Given the description of an element on the screen output the (x, y) to click on. 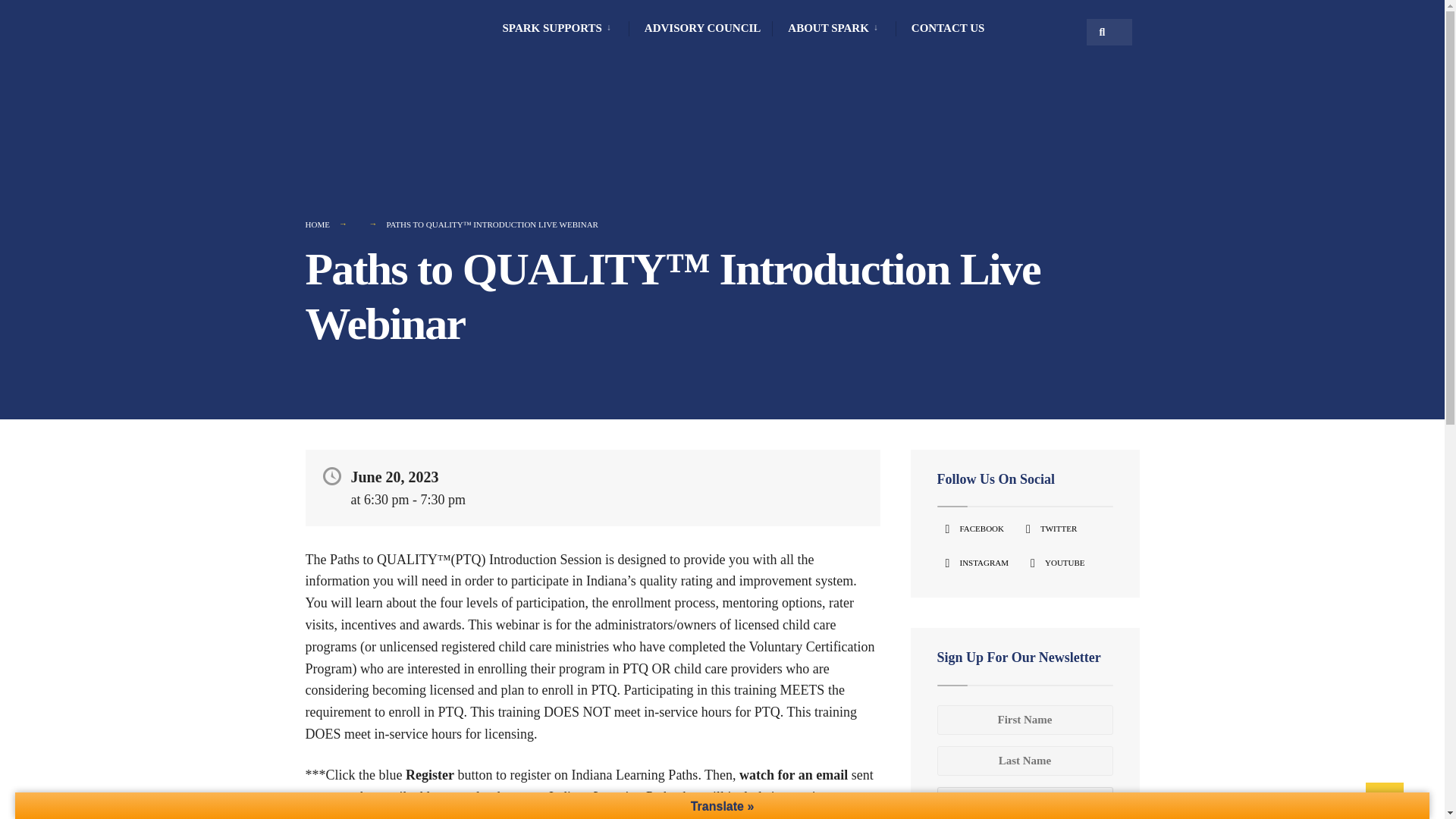
ADVISORY COUNCIL (703, 27)
2023-06-20T18:30:00 (414, 499)
2023-06-20T19:30:00 (442, 499)
Scroll to top (1384, 800)
ABOUT SPARK (835, 27)
CONTACT US (948, 27)
SPARK SUPPORTS (558, 27)
